Given the description of an element on the screen output the (x, y) to click on. 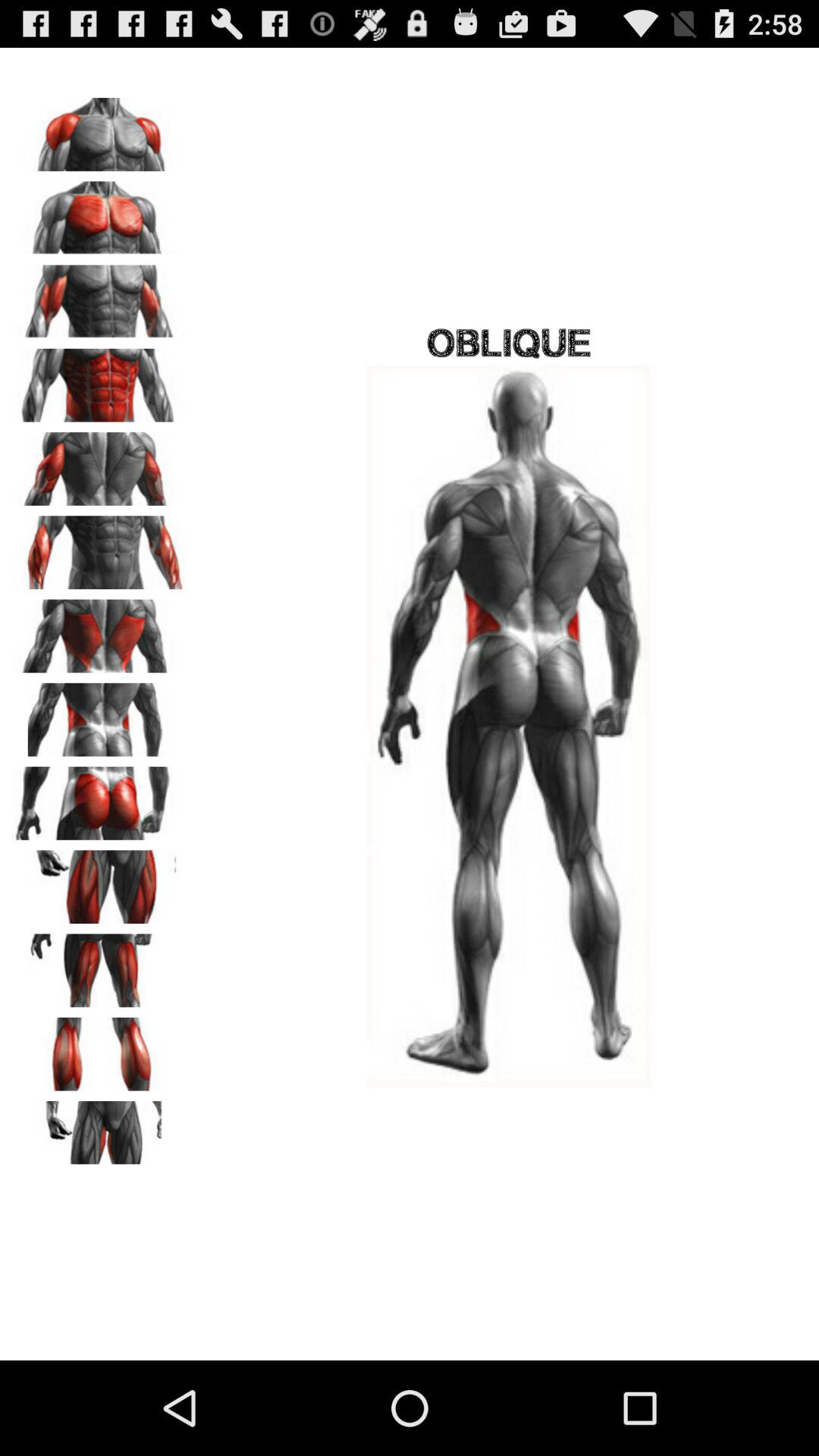
share the article (99, 881)
